Given the description of an element on the screen output the (x, y) to click on. 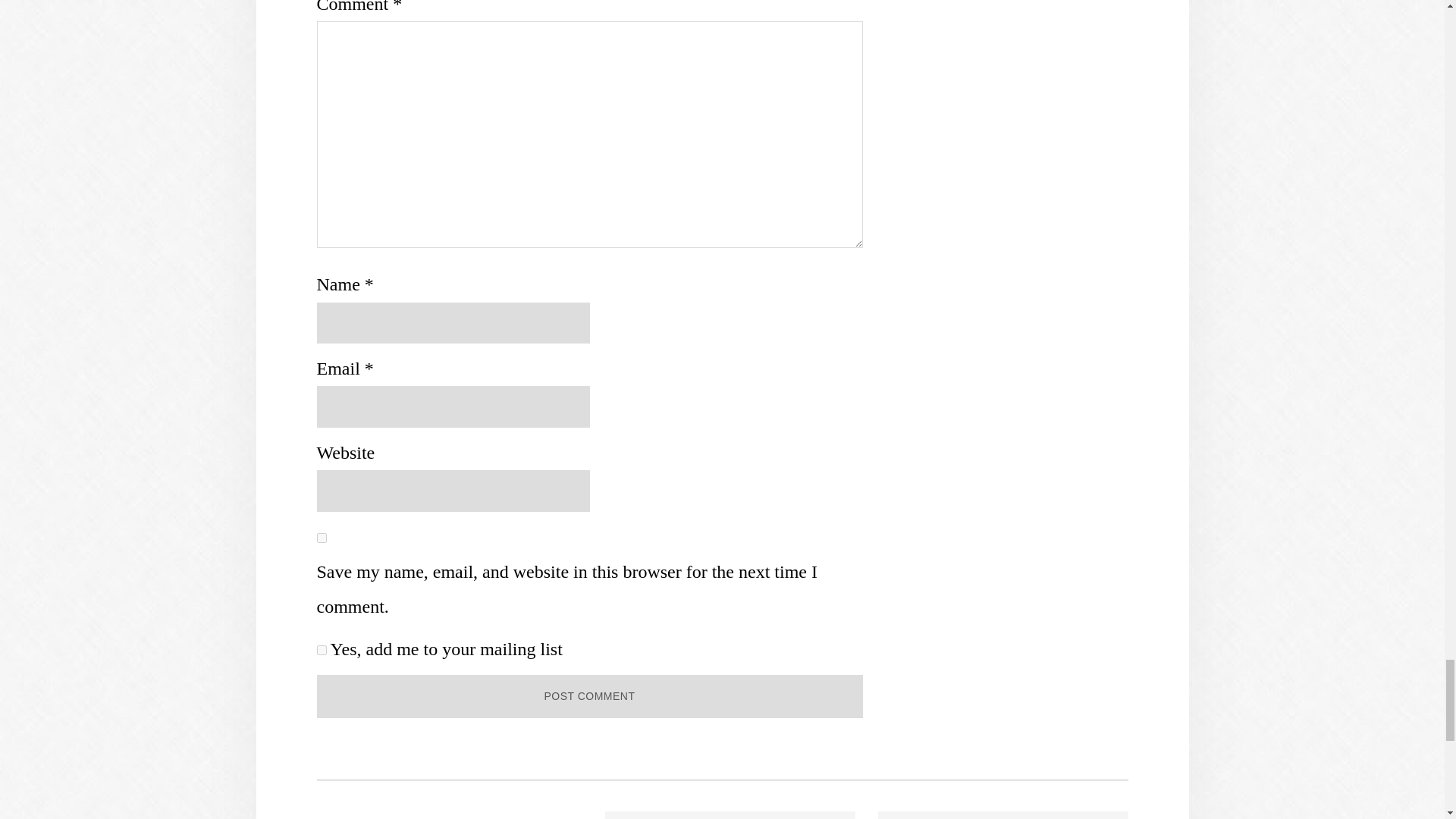
yes (321, 537)
1 (321, 650)
Post Comment (590, 696)
Post Comment (590, 696)
